Given the description of an element on the screen output the (x, y) to click on. 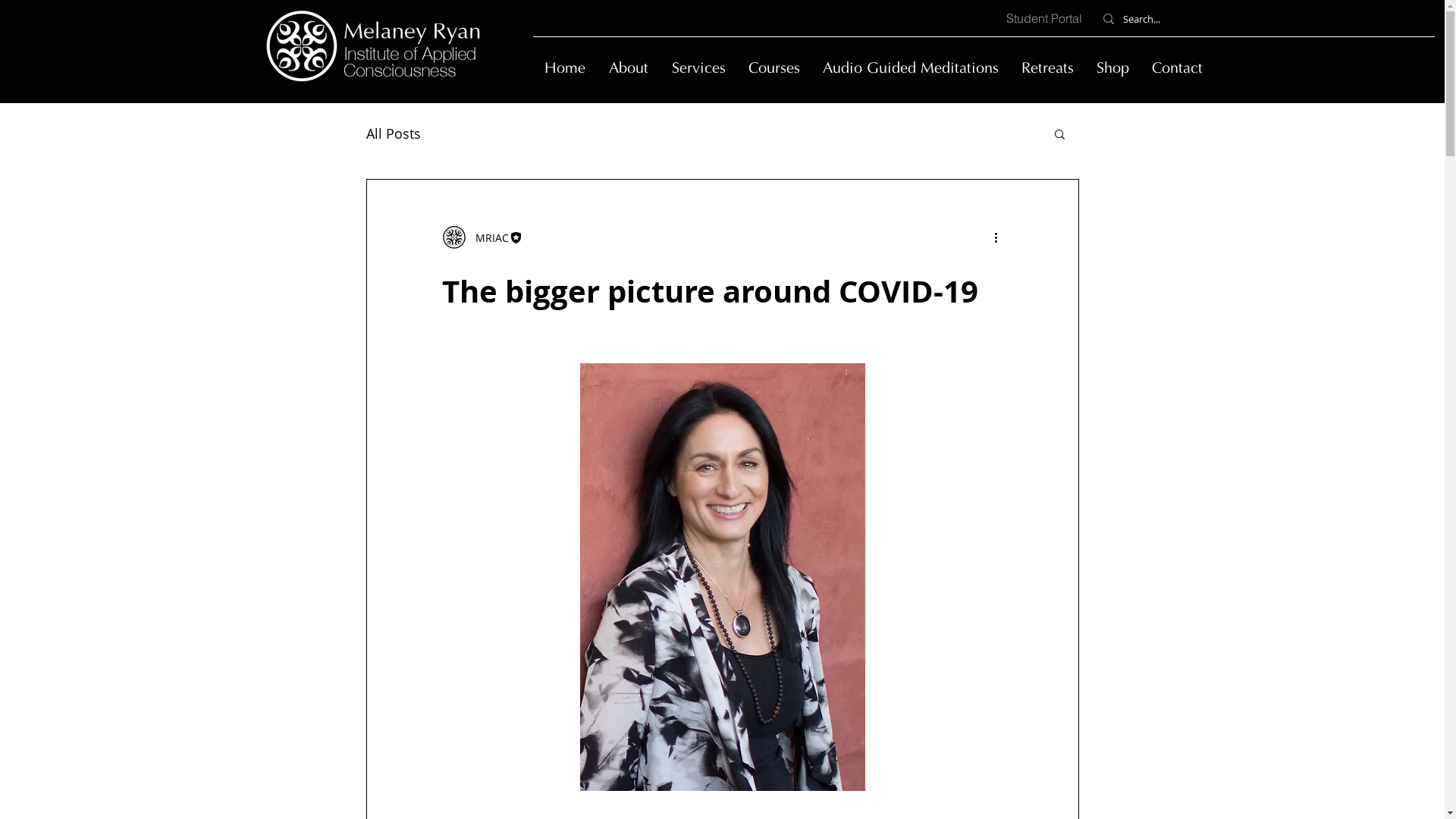
Student Portal Element type: text (1043, 17)
Audio Guided Meditations Element type: text (910, 69)
Retreats Element type: text (1047, 69)
Contact Element type: text (1177, 69)
All Posts Element type: text (392, 133)
Home Element type: text (564, 69)
About Element type: text (628, 69)
Shop Element type: text (1111, 69)
